Given the description of an element on the screen output the (x, y) to click on. 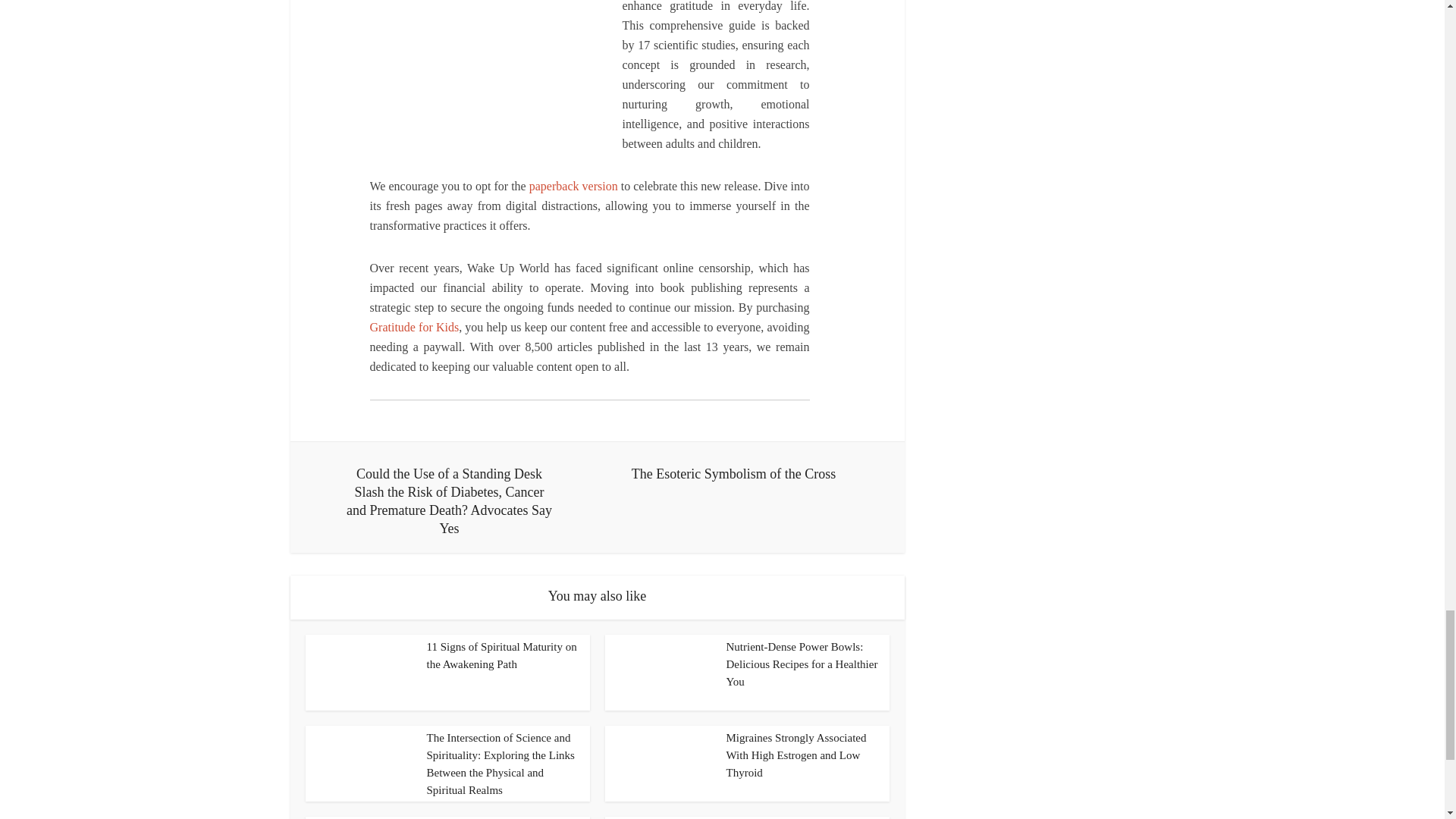
11 Signs of Spiritual Maturity on the Awakening Path (501, 655)
